Given the description of an element on the screen output the (x, y) to click on. 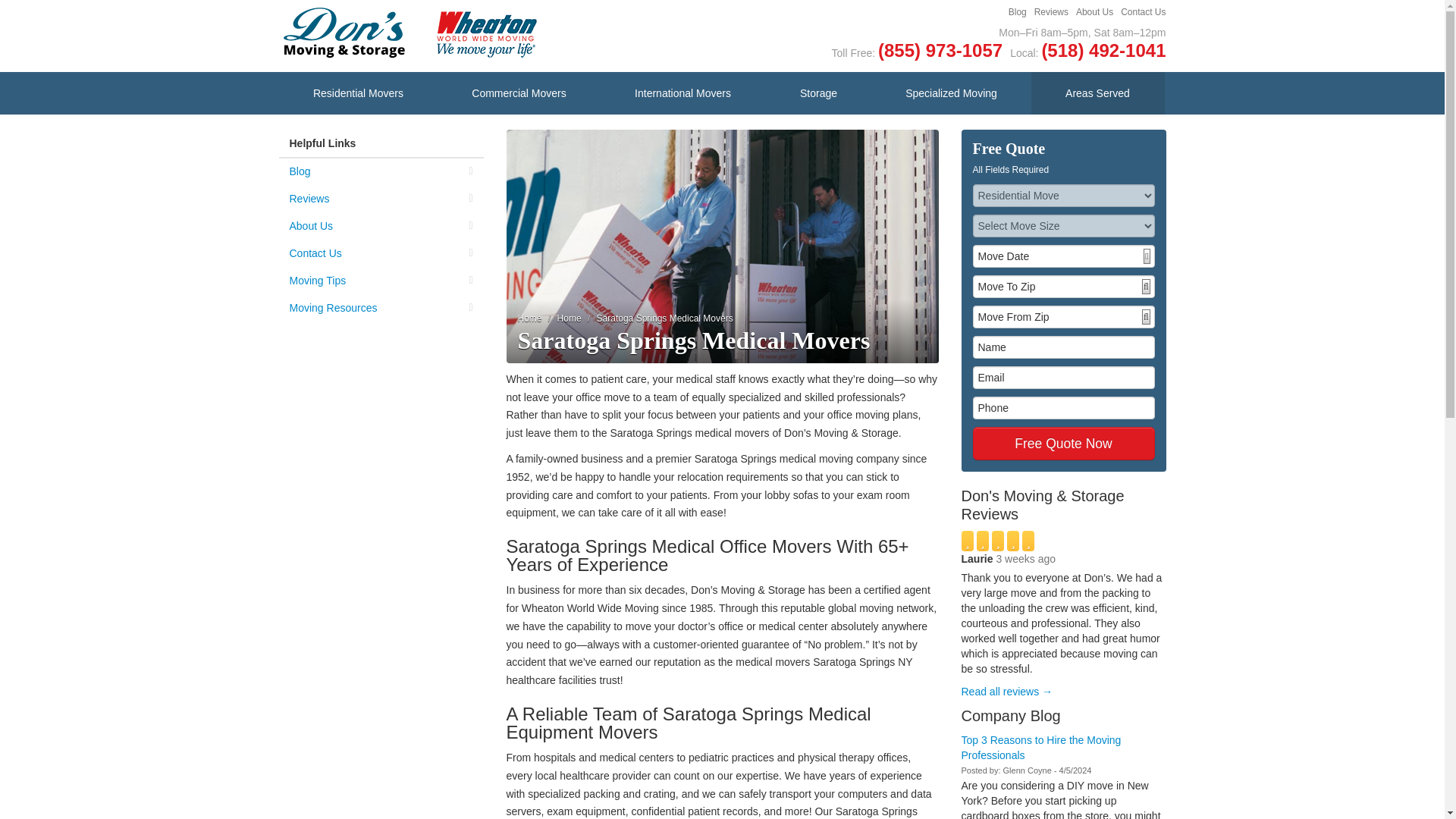
Commercial Movers (518, 93)
About Us (1094, 11)
Blog (1017, 11)
Areas Served (1097, 93)
Contact Us (381, 252)
5 Stars (1063, 540)
Reviews (381, 198)
April 05, 2024 (1075, 769)
Select Date (1146, 255)
Search (1145, 316)
Glenn Coyne (1027, 769)
Storage (818, 93)
Search (1145, 286)
International Movers (682, 93)
About Us (381, 225)
